Given the description of an element on the screen output the (x, y) to click on. 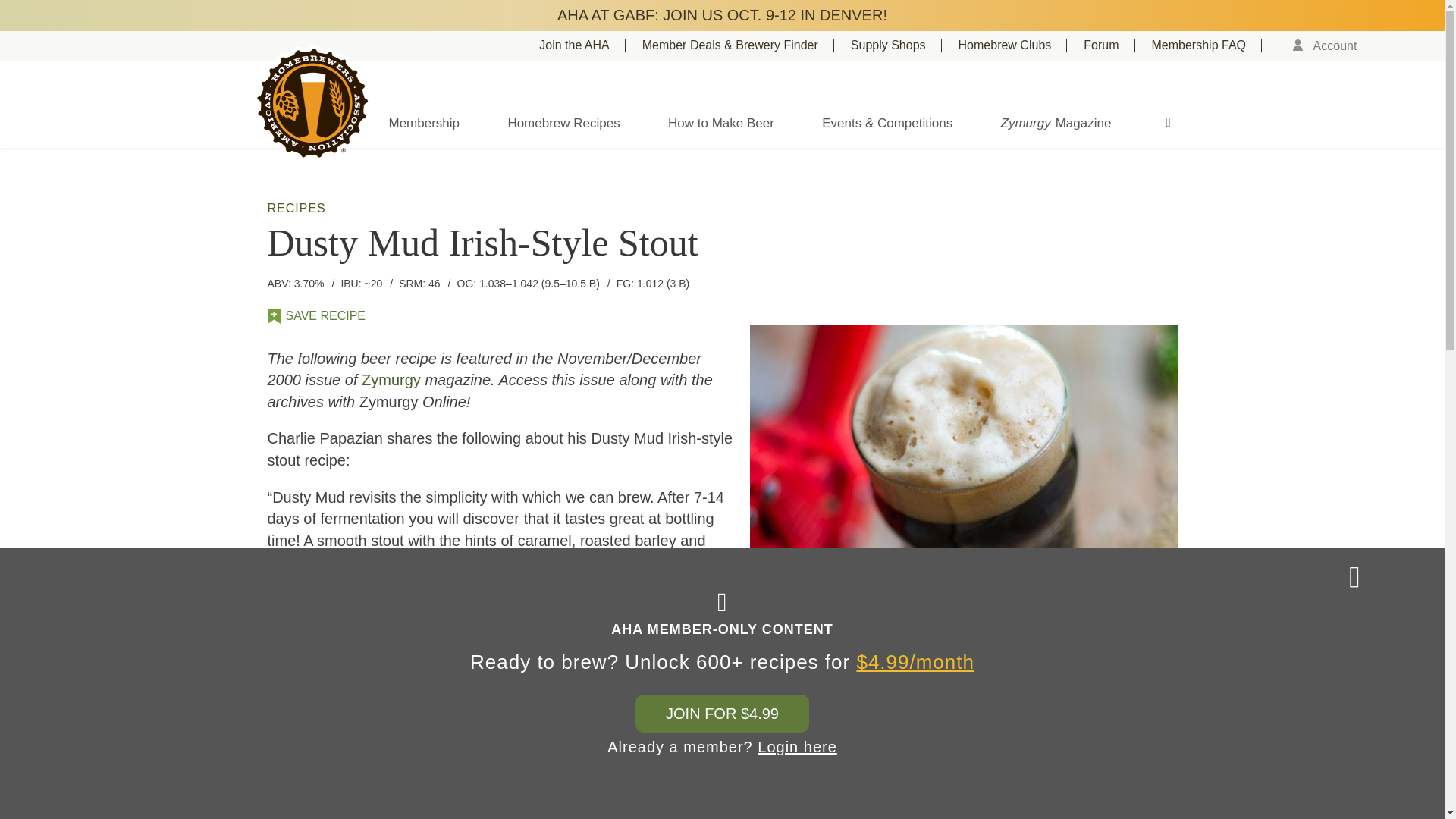
Supply Shops (896, 45)
AHA AT GABF: JOIN US OCT. 9-12 IN DENVER! (721, 15)
Membership FAQ (1206, 45)
Forum (1108, 45)
Homebrew Clubs (1012, 45)
Account (1330, 46)
Join the AHA (582, 45)
